Given the description of an element on the screen output the (x, y) to click on. 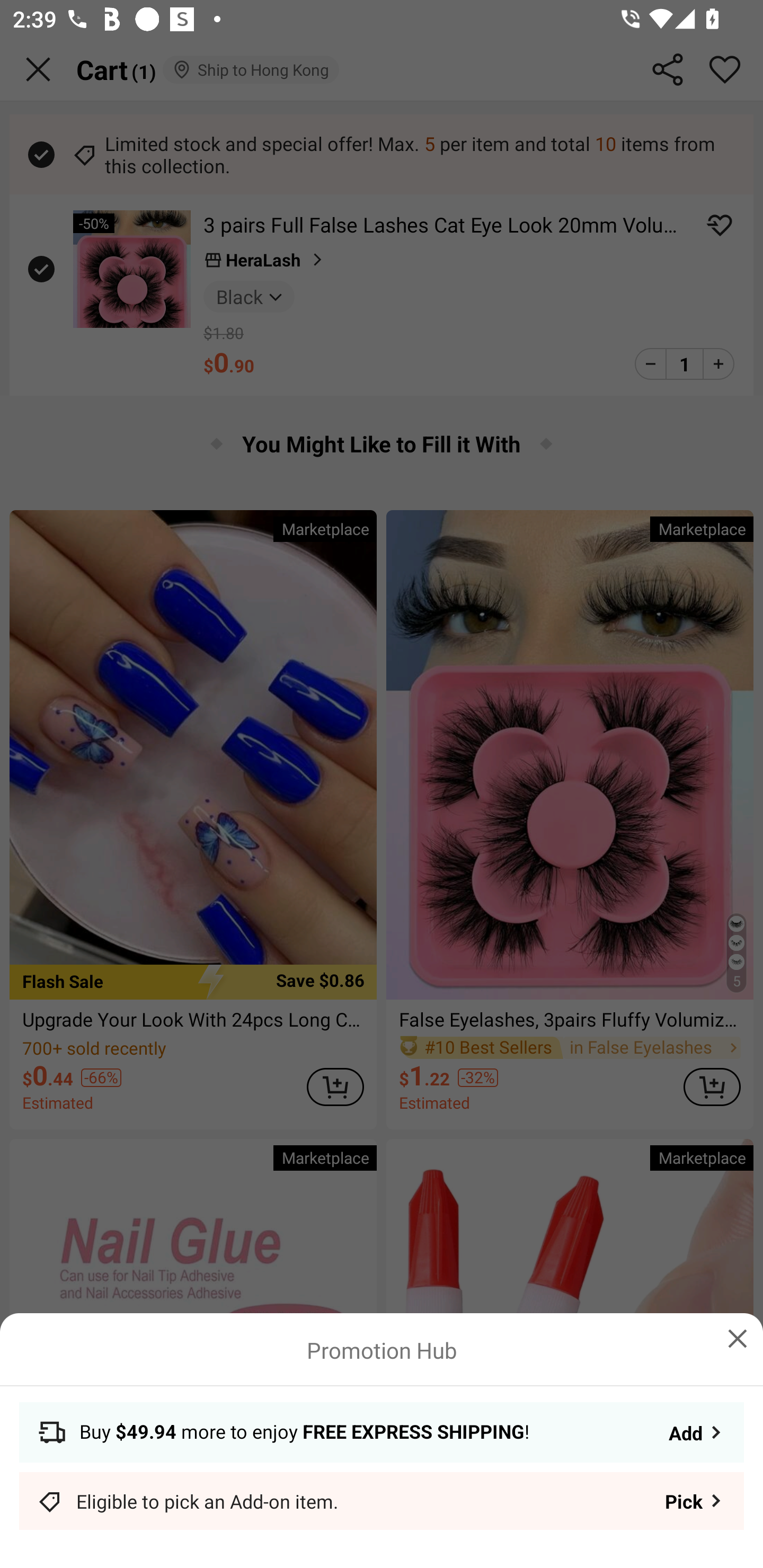
Add (696, 1432)
Eligible to pick an Add-on item. Pick (381, 1501)
Pick (694, 1501)
